Given the description of an element on the screen output the (x, y) to click on. 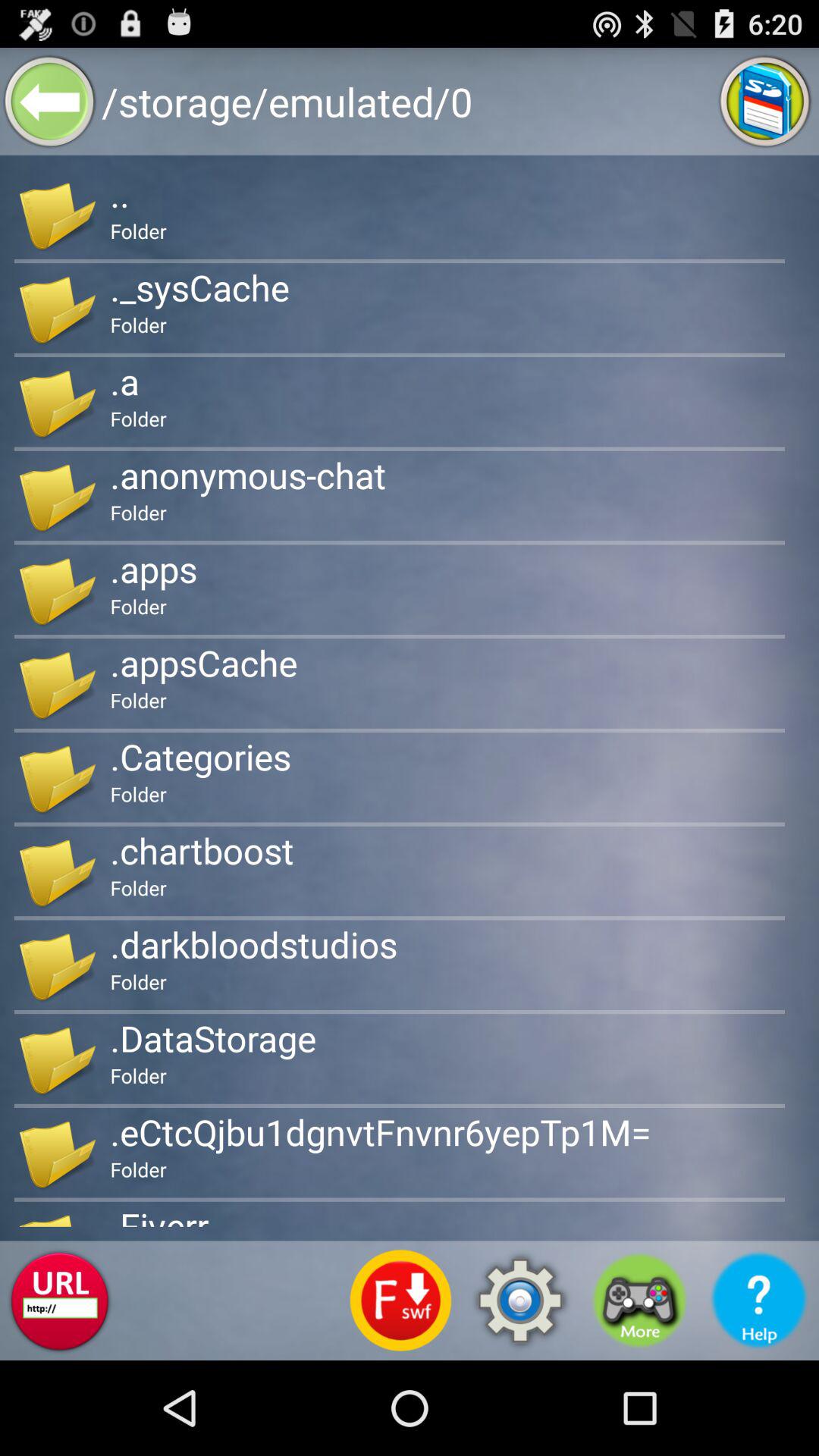
jump to the .anonymous-chat (248, 475)
